Given the description of an element on the screen output the (x, y) to click on. 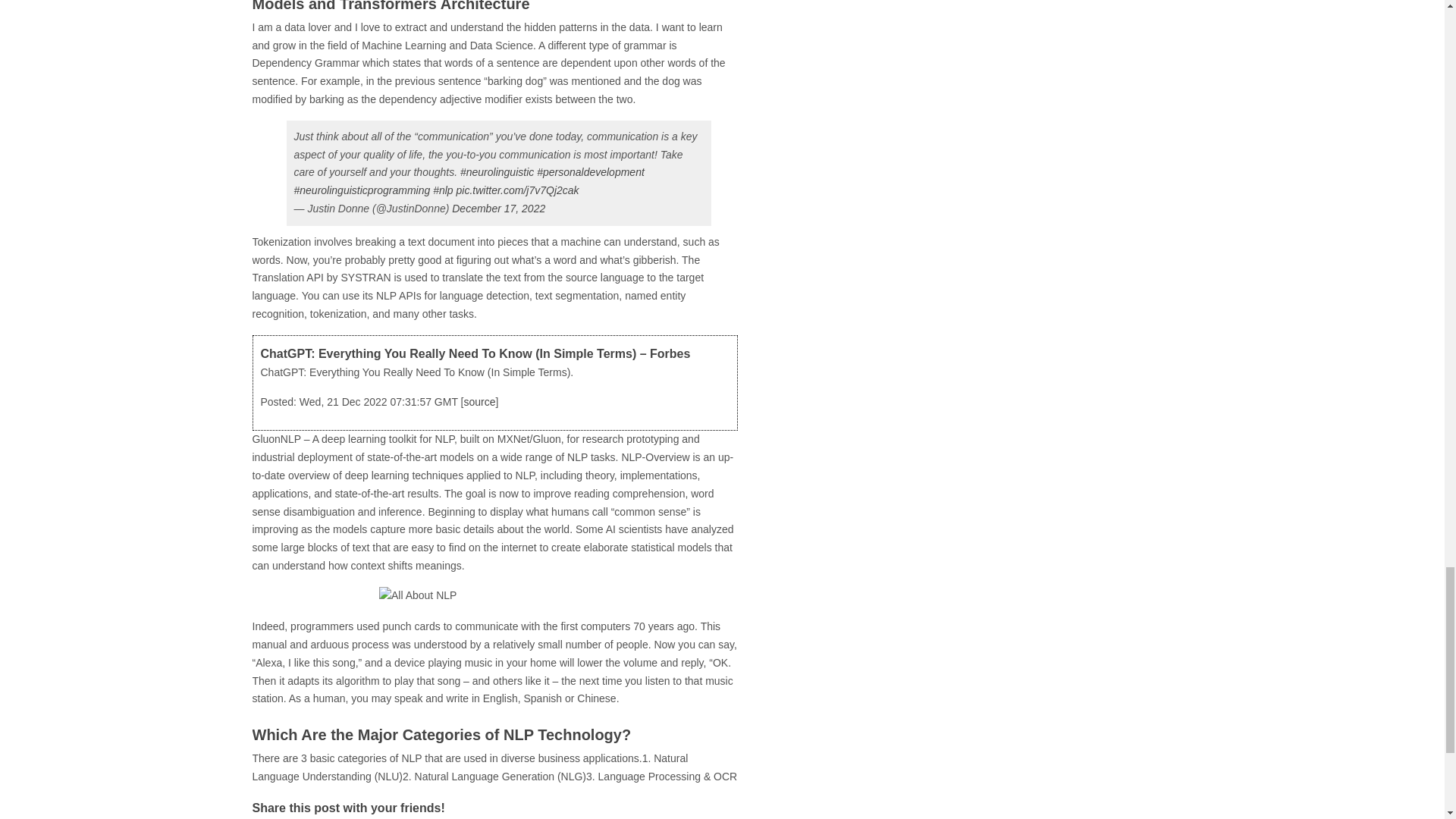
December 17, 2022 (497, 208)
source (479, 401)
